Given the description of an element on the screen output the (x, y) to click on. 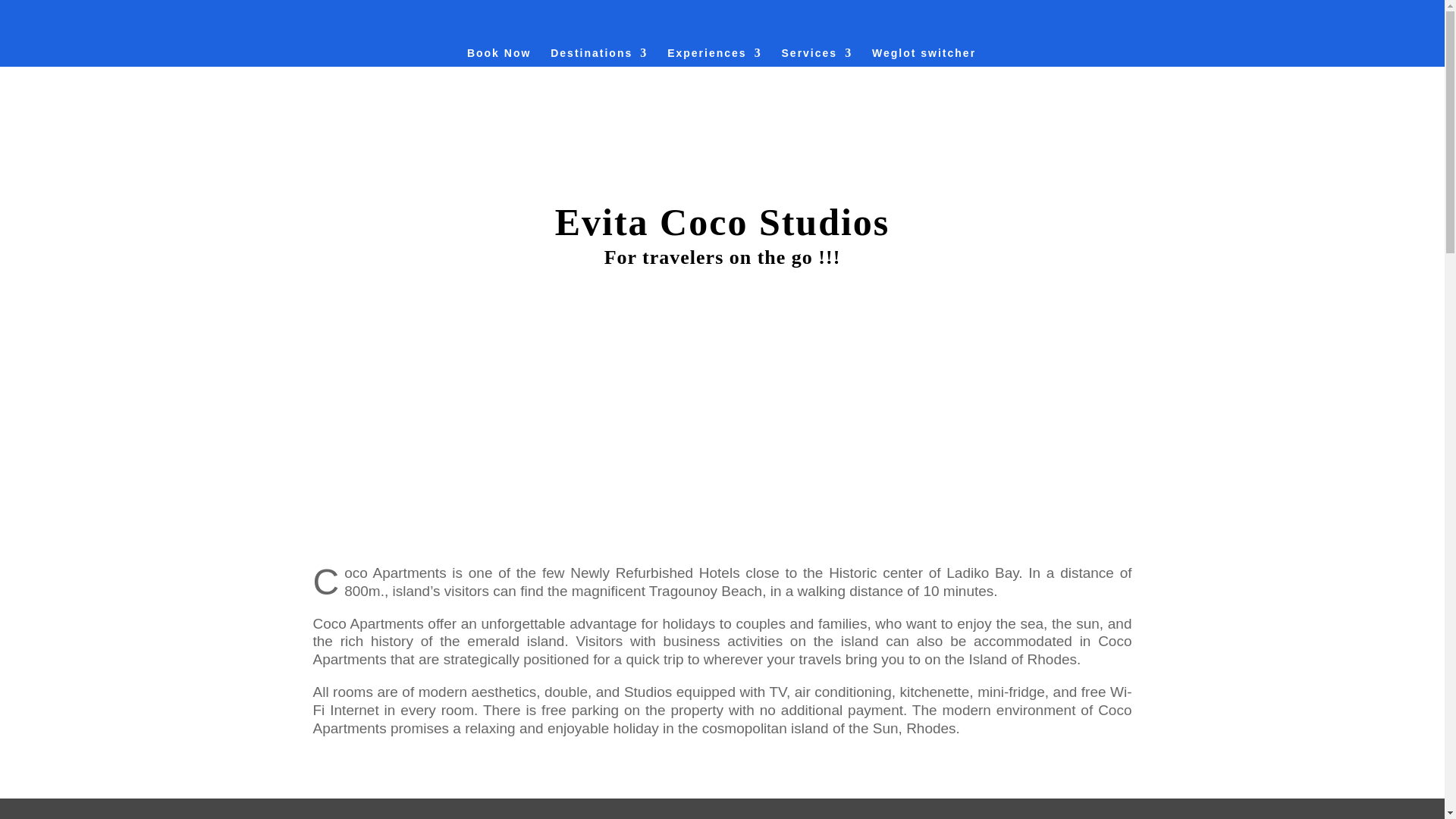
Destinations (598, 56)
Services (817, 56)
Weglot switcher (923, 56)
Experiences (713, 56)
Book Now (499, 56)
